Given the description of an element on the screen output the (x, y) to click on. 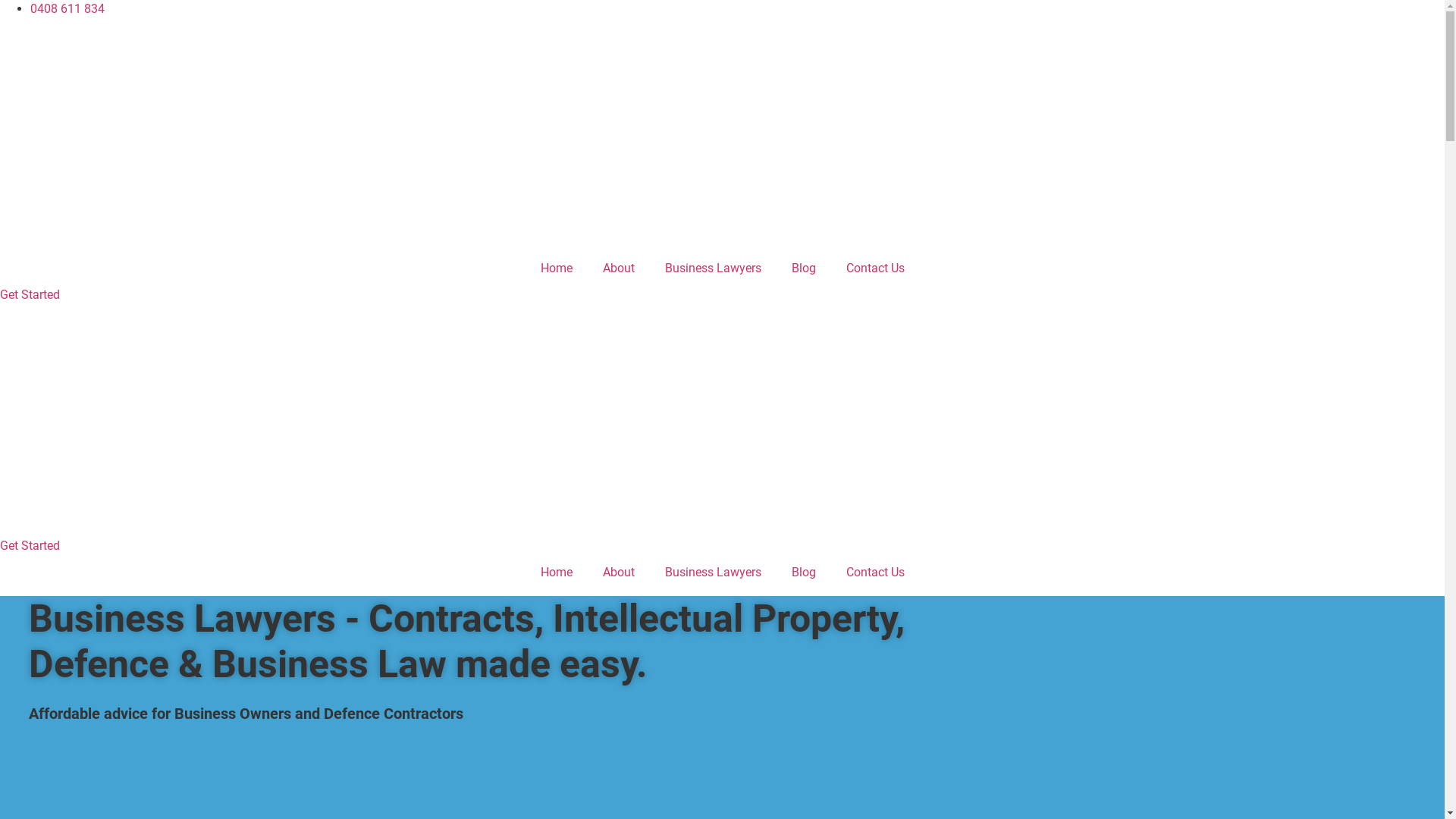
Get Started Element type: text (29, 294)
Blog Element type: text (803, 268)
0408 611 834 Element type: text (67, 8)
Contact Us Element type: text (875, 268)
Contact Us Element type: text (875, 572)
Home Element type: text (555, 268)
Home Element type: text (555, 572)
About Element type: text (617, 572)
Blog Element type: text (803, 572)
About Element type: text (617, 268)
Business Lawyers Element type: text (712, 572)
Business Lawyers Element type: text (712, 268)
Get Started Element type: text (29, 545)
